Given the description of an element on the screen output the (x, y) to click on. 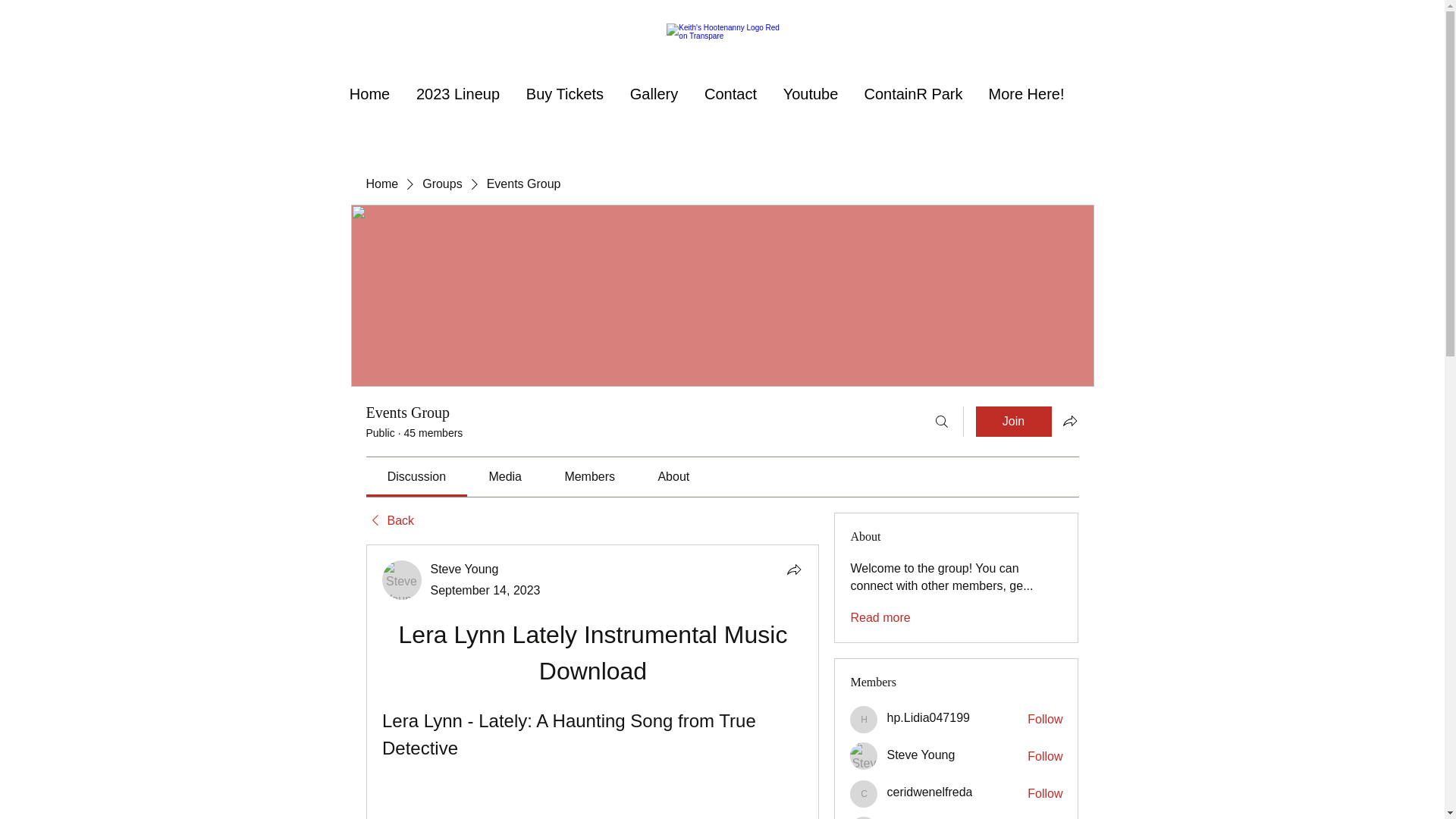
Steve Young (863, 755)
Home (369, 94)
Groups (441, 184)
Gallery (654, 94)
Buy Tickets (563, 94)
ContainR Park (912, 94)
Contact (730, 94)
ceridwenelfreda (929, 791)
phocohanoi2 (863, 817)
Steve Young (464, 568)
